Given the description of an element on the screen output the (x, y) to click on. 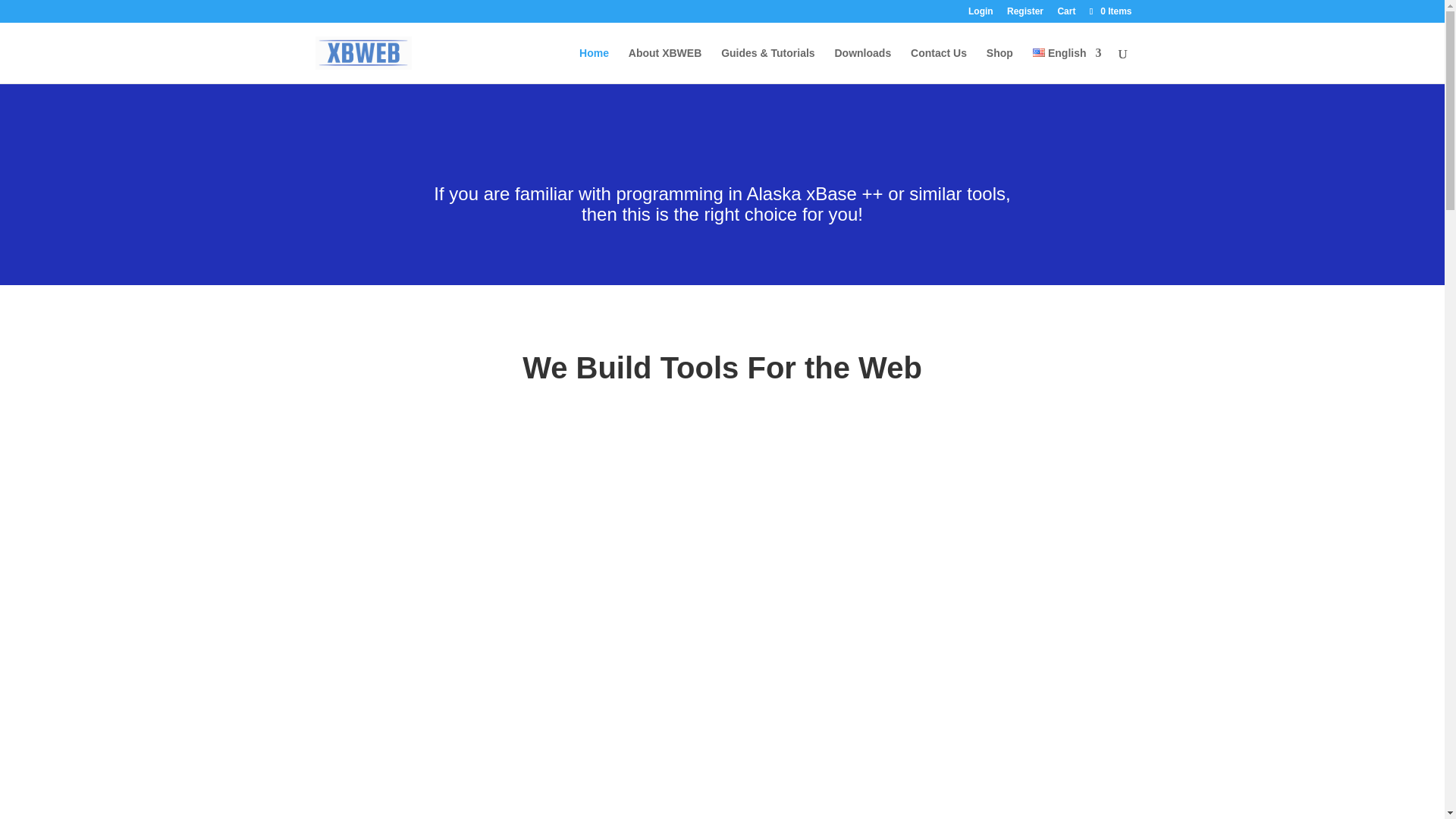
0 Items (1108, 10)
Downloads (862, 65)
Shop (1000, 65)
Login (980, 14)
Register (1025, 14)
Home (593, 65)
Contact Us (938, 65)
About XBWEB (664, 65)
English (1067, 65)
Cart (1066, 14)
